Given the description of an element on the screen output the (x, y) to click on. 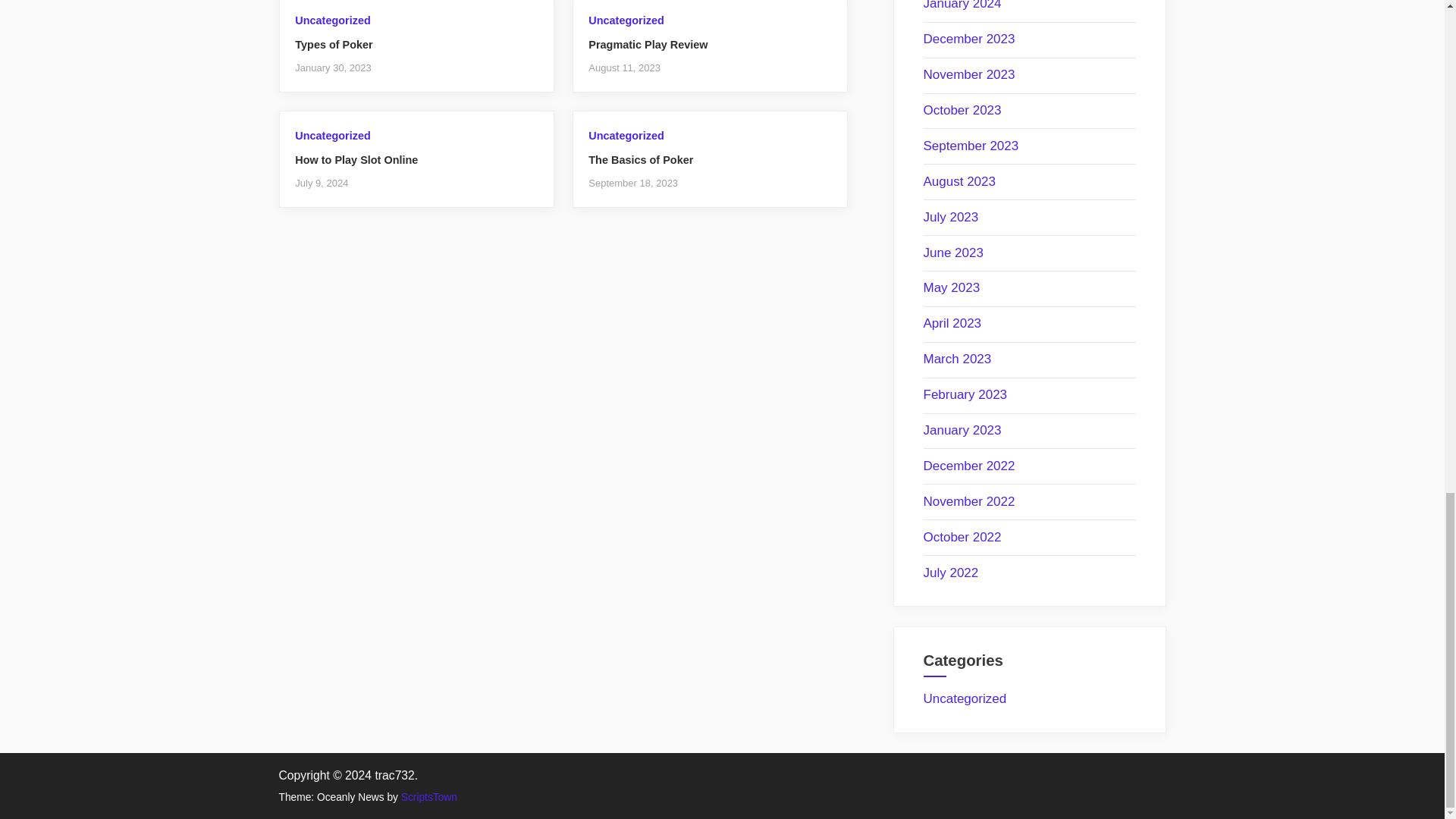
Uncategorized (625, 20)
October 2023 (962, 110)
Uncategorized (625, 135)
November 2023 (968, 74)
December 2023 (968, 38)
September 2023 (971, 145)
Types of Poker (333, 44)
Uncategorized (332, 135)
How to Play Slot Online (356, 159)
Uncategorized (332, 20)
